Given the description of an element on the screen output the (x, y) to click on. 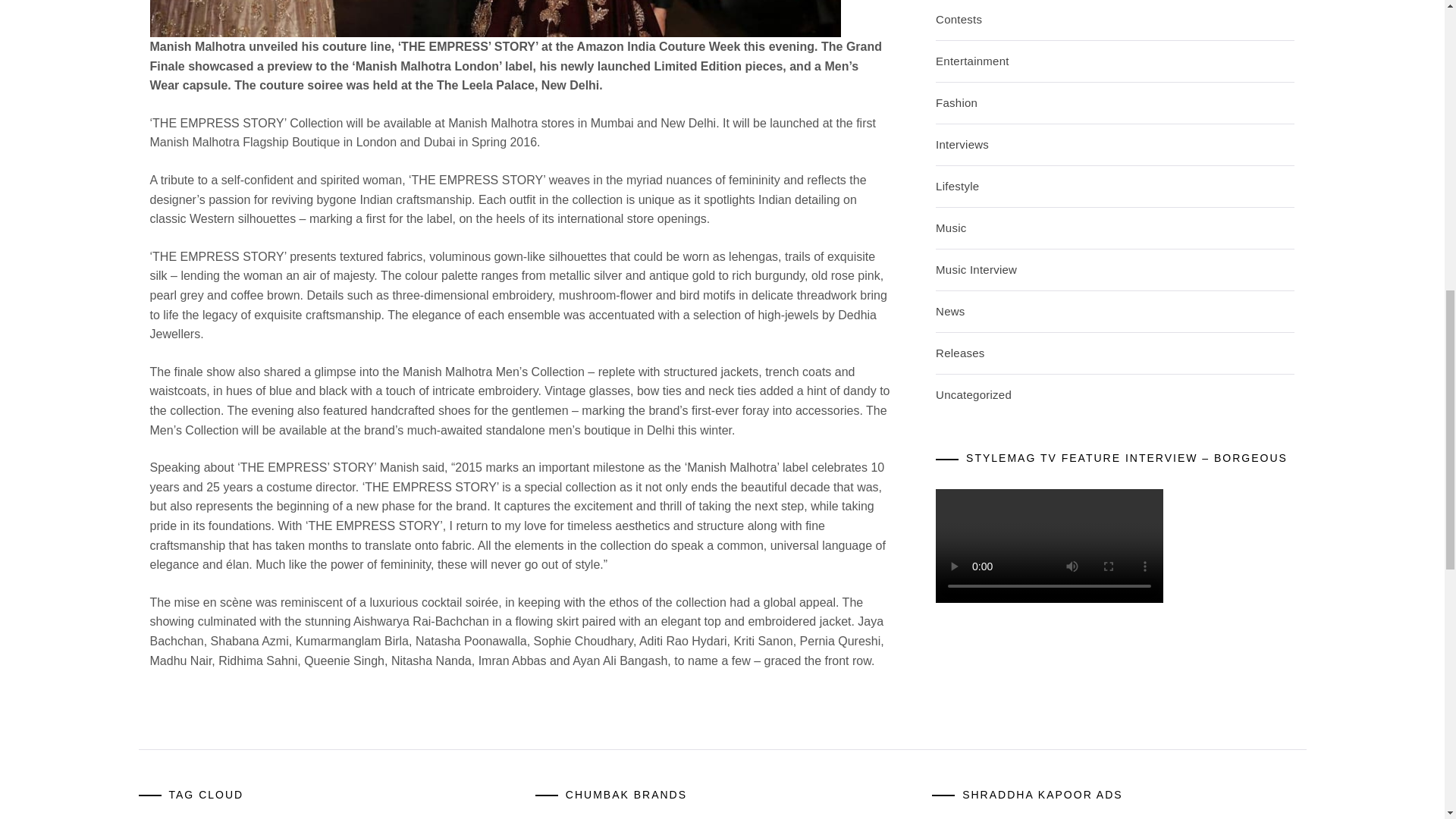
Contests (958, 19)
Interviews (962, 144)
Lifestyle (957, 185)
Music Interview (976, 269)
Music (951, 227)
Fashion (956, 102)
Entertainment (972, 60)
Uncategorized (973, 394)
News (950, 310)
Releases (960, 352)
